Given the description of an element on the screen output the (x, y) to click on. 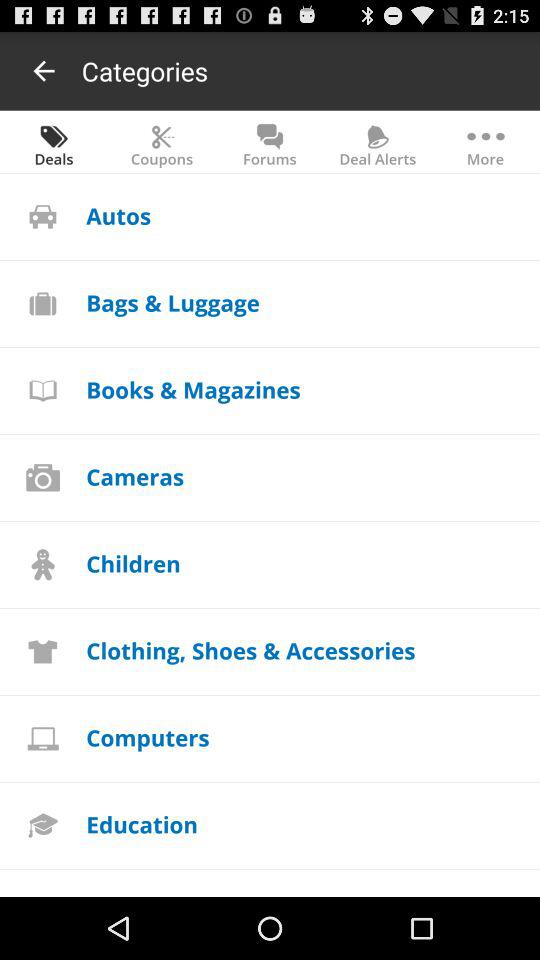
swipe to autos item (118, 214)
